Given the description of an element on the screen output the (x, y) to click on. 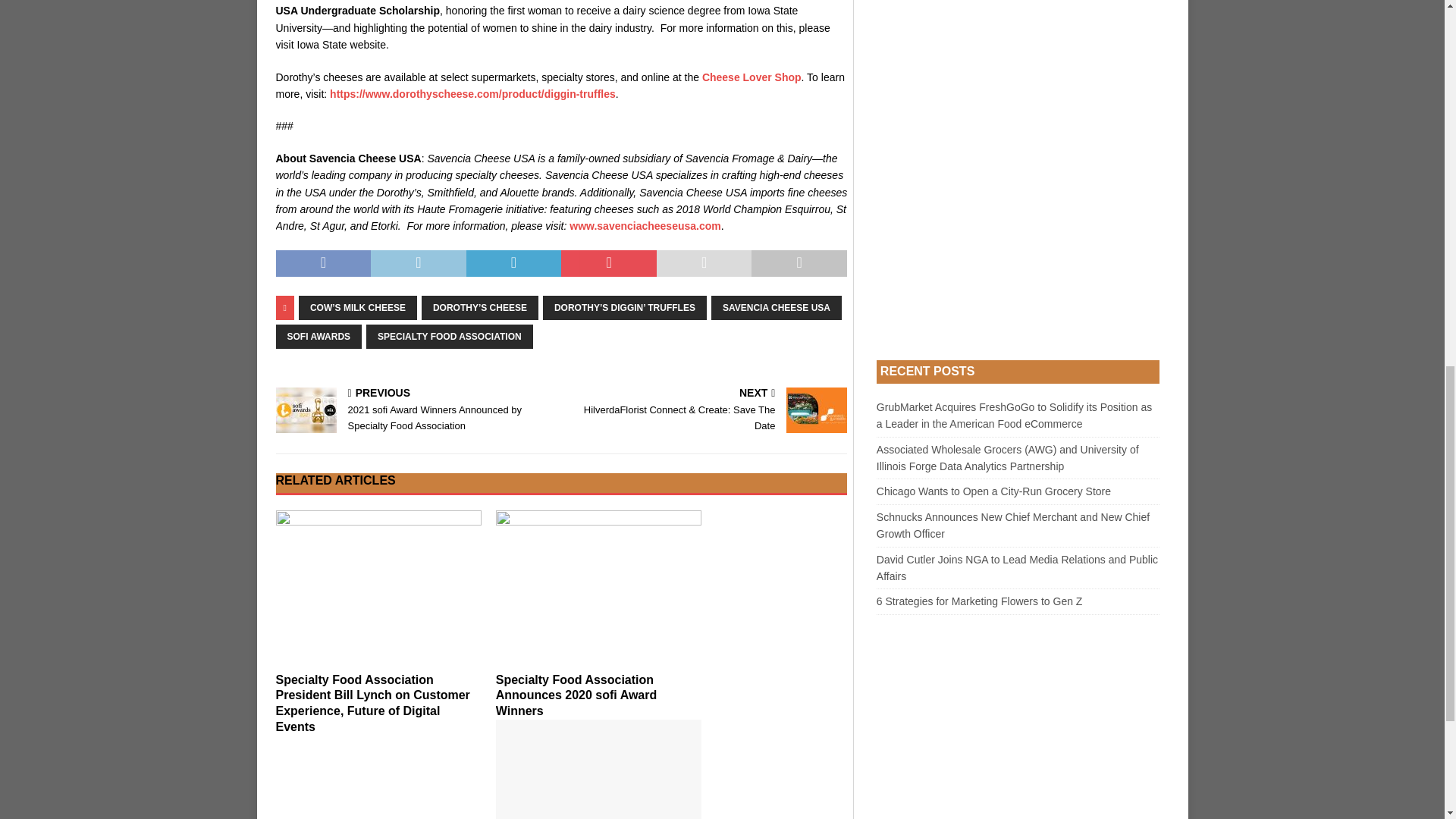
Specialty Food Association Announces 2020 sofi Award Winners (577, 695)
Specialty Food Association Announces 2020 sofi Award Winners (598, 587)
www.savenciacheeseusa.com (644, 225)
Cheese Lover Shop (751, 77)
